Given the description of an element on the screen output the (x, y) to click on. 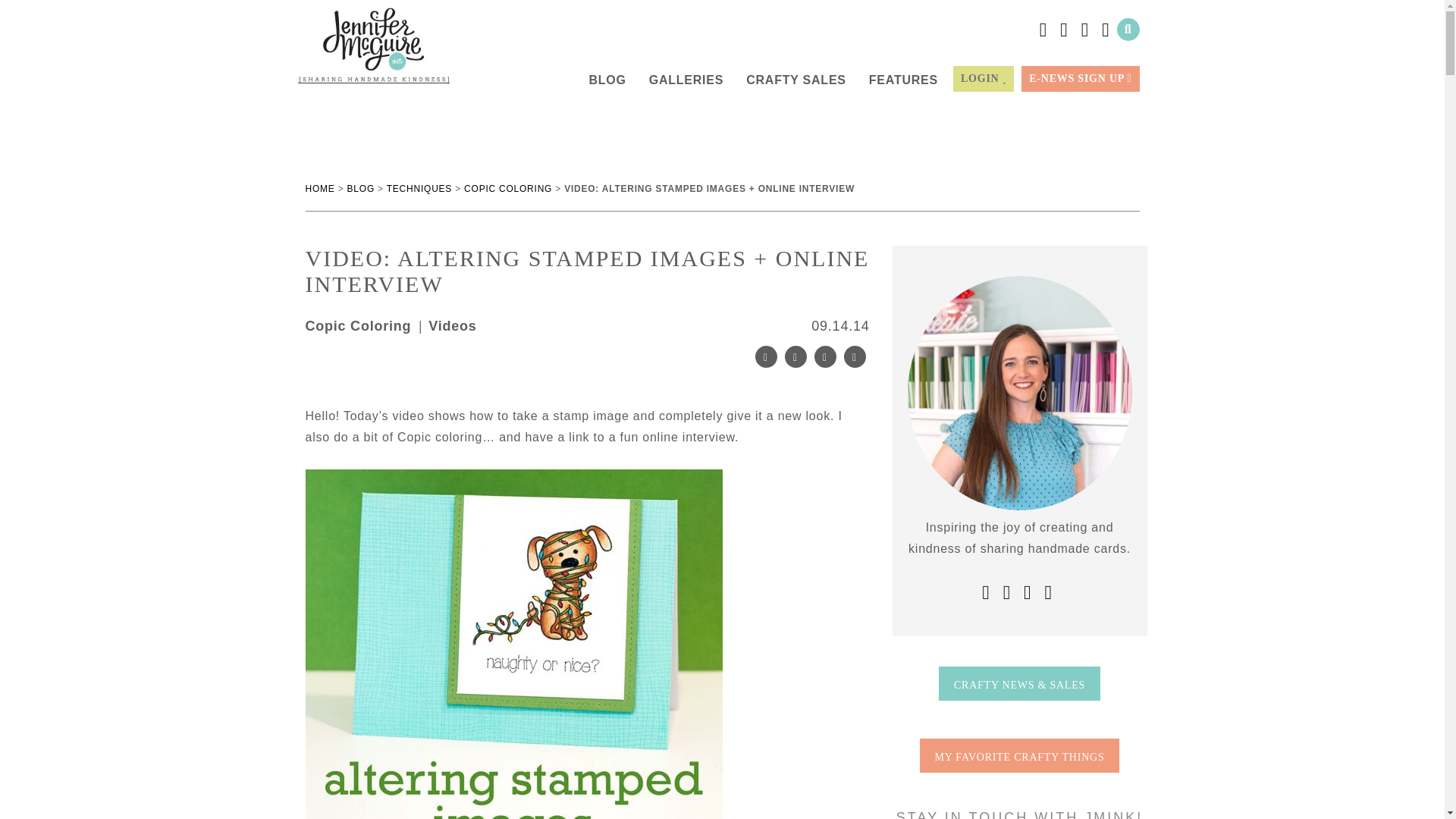
BLOG (606, 80)
go (216, 53)
COPIC COLORING (507, 188)
GALLERIES (686, 80)
FEATURES (902, 80)
BLOG (360, 188)
TECHNIQUES (419, 188)
E-NEWS SIGN UP (1080, 78)
CRAFTY SALES (795, 80)
